Given the description of an element on the screen output the (x, y) to click on. 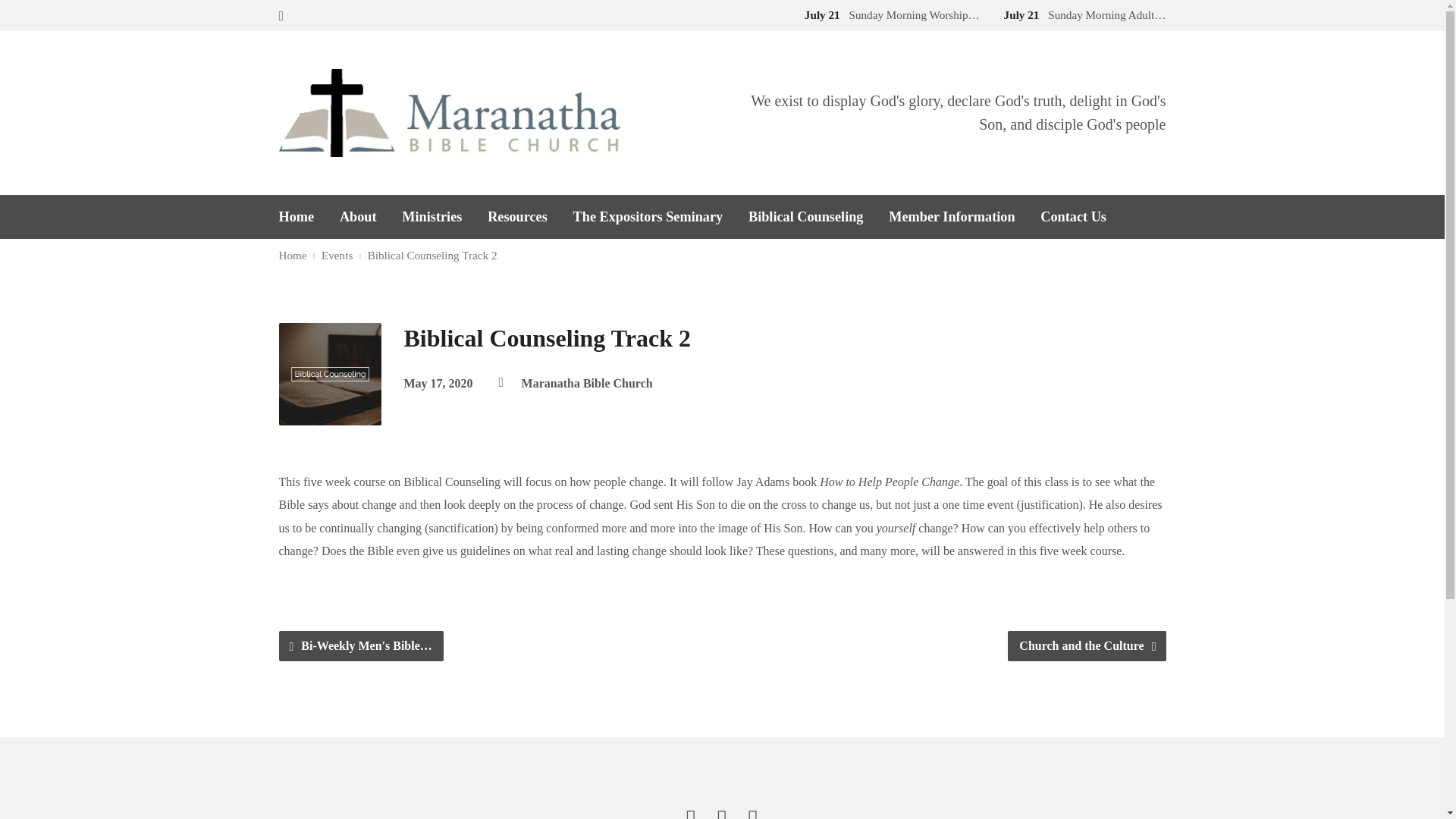
YouTube (722, 811)
Sunday Morning Worship Service (888, 14)
Facebook (691, 811)
Instagram (753, 811)
Home (296, 216)
Ministries (431, 216)
Sunday Morning Adult Fellowship Group (1081, 14)
About (358, 216)
Resources (517, 216)
Toggle Search (281, 16)
